Given the description of an element on the screen output the (x, y) to click on. 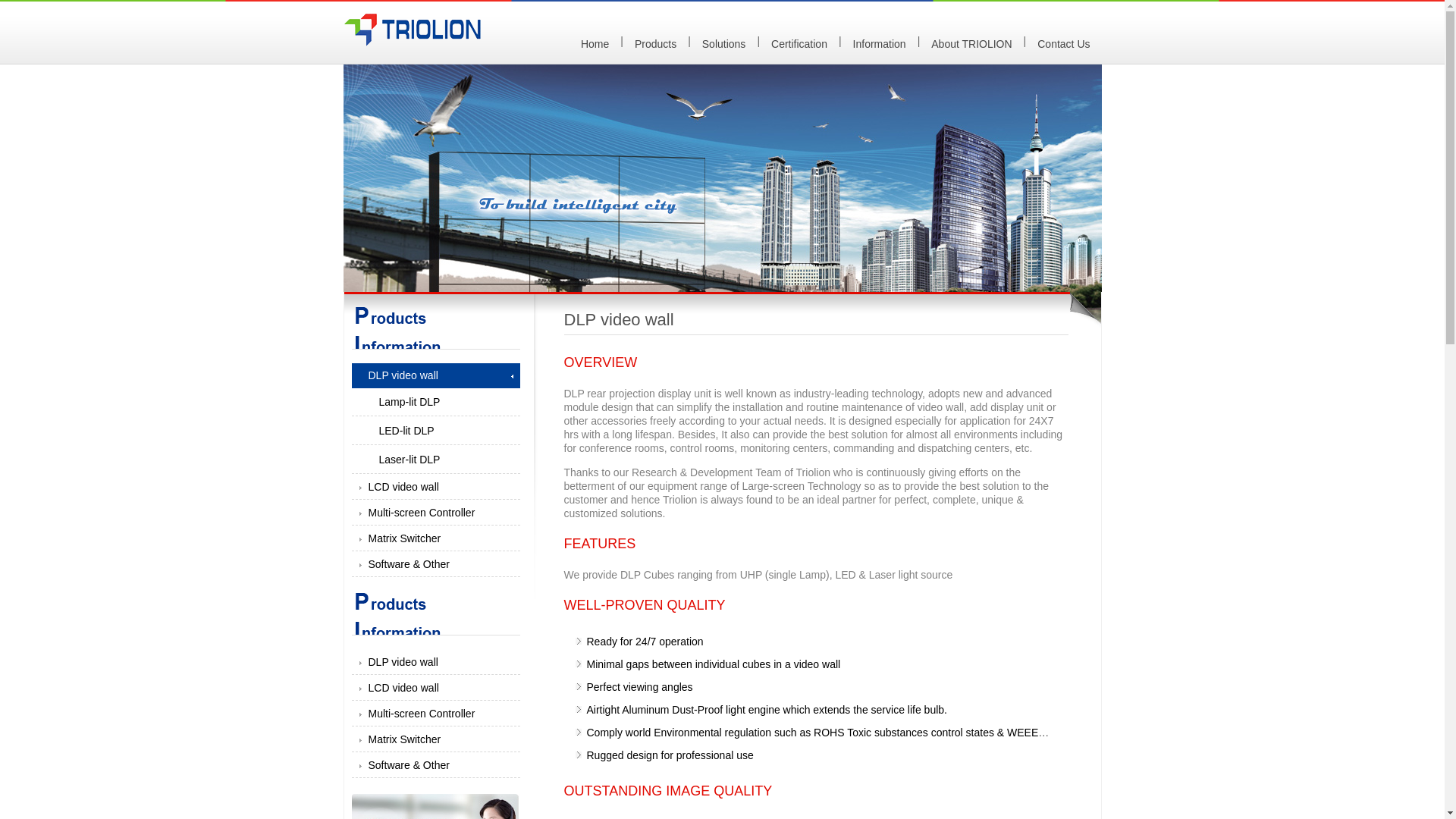
About TRIOLION (971, 43)
Contact Us (1063, 43)
Certification (799, 43)
Solutions (723, 43)
Home (594, 43)
Products (655, 43)
Information (879, 43)
